Given the description of an element on the screen output the (x, y) to click on. 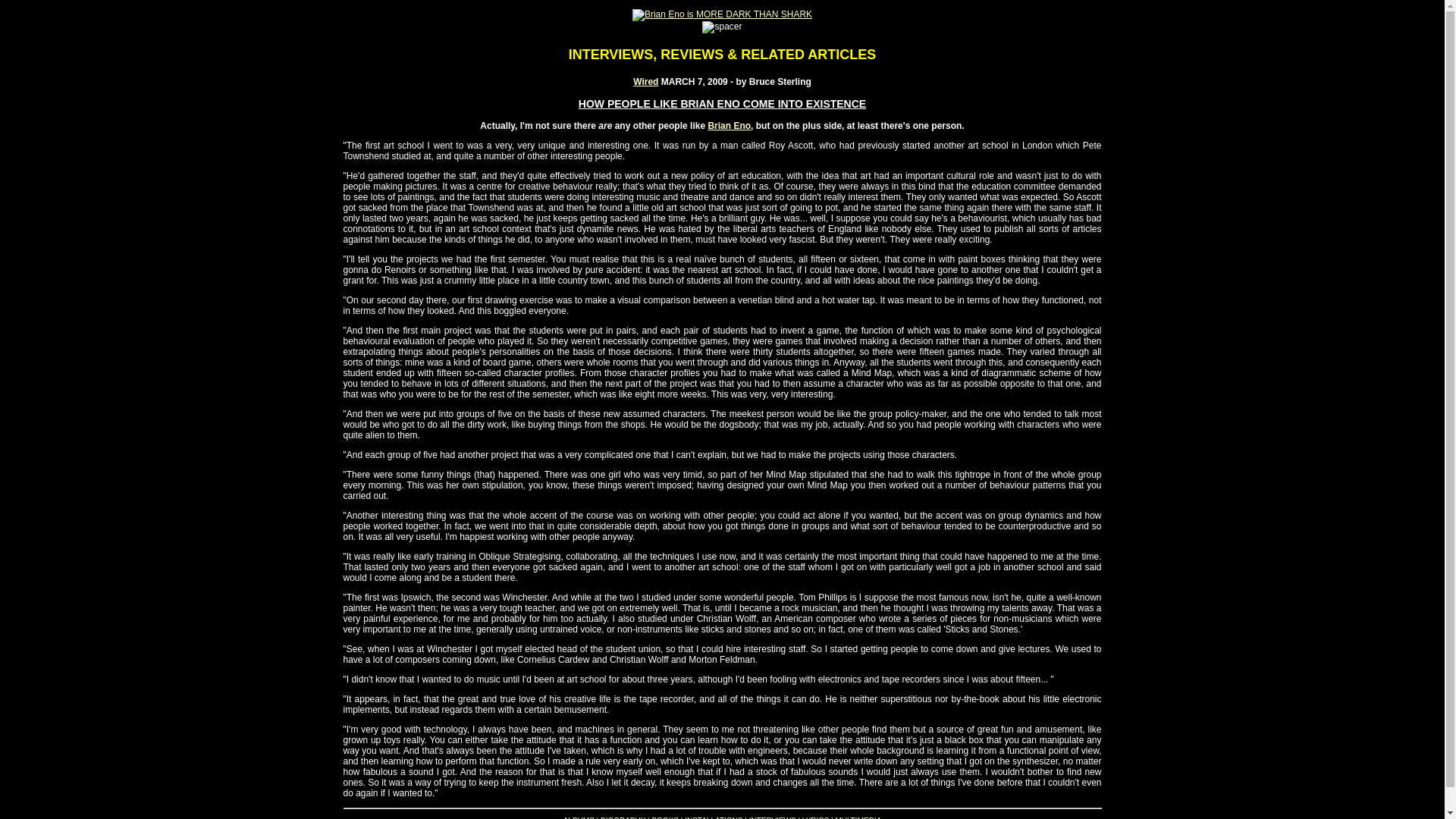
Wired (645, 81)
Brian Eno (729, 125)
